Given the description of an element on the screen output the (x, y) to click on. 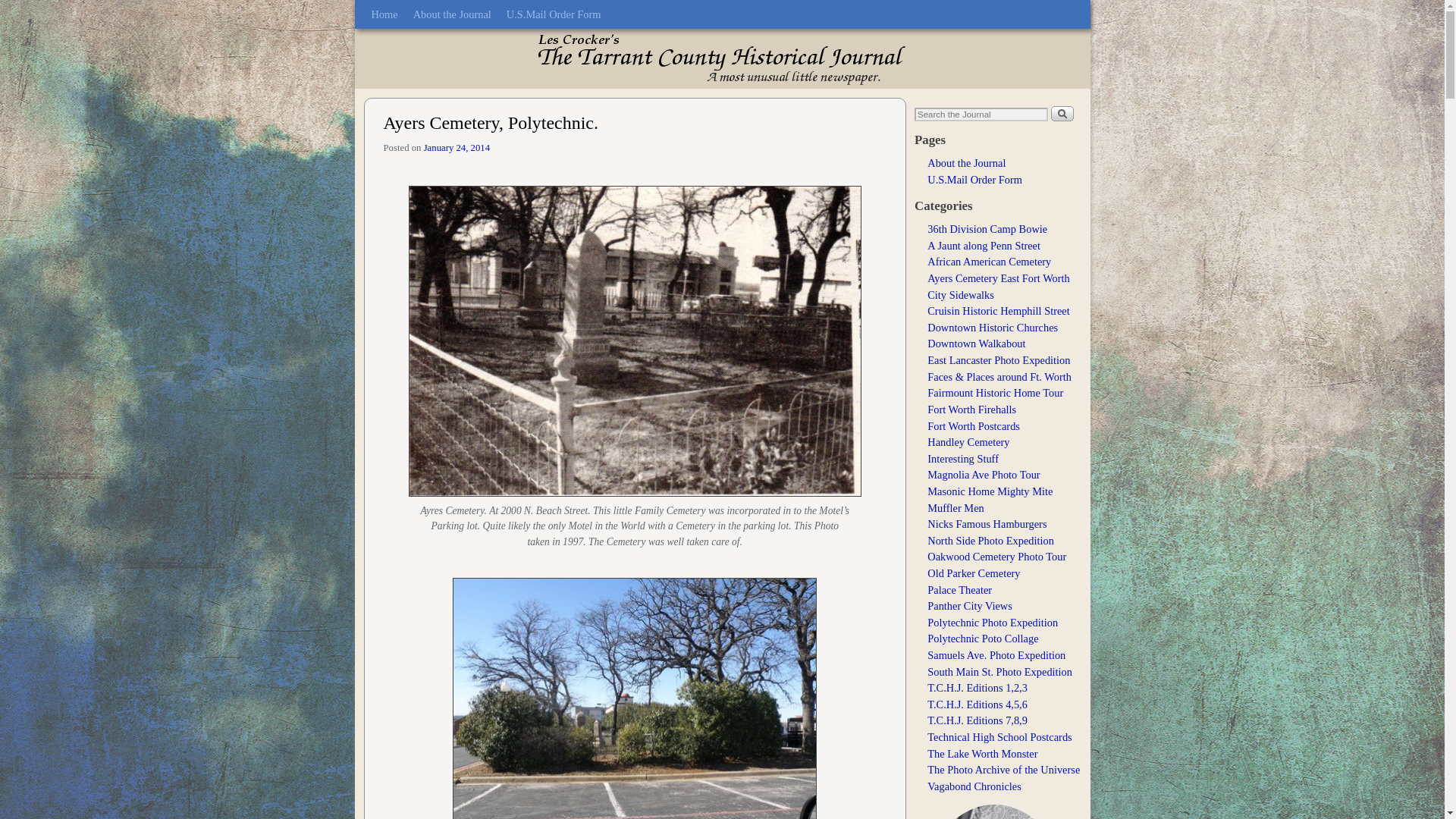
Home (385, 14)
U.S.Mail Order Form (553, 14)
January 24, 2014 (456, 147)
Skip to secondary content (401, 6)
The Tarrant County Historical Journal (722, 58)
About the Journal (452, 14)
4:08 pm (456, 147)
Skip to primary content (398, 6)
